Given the description of an element on the screen output the (x, y) to click on. 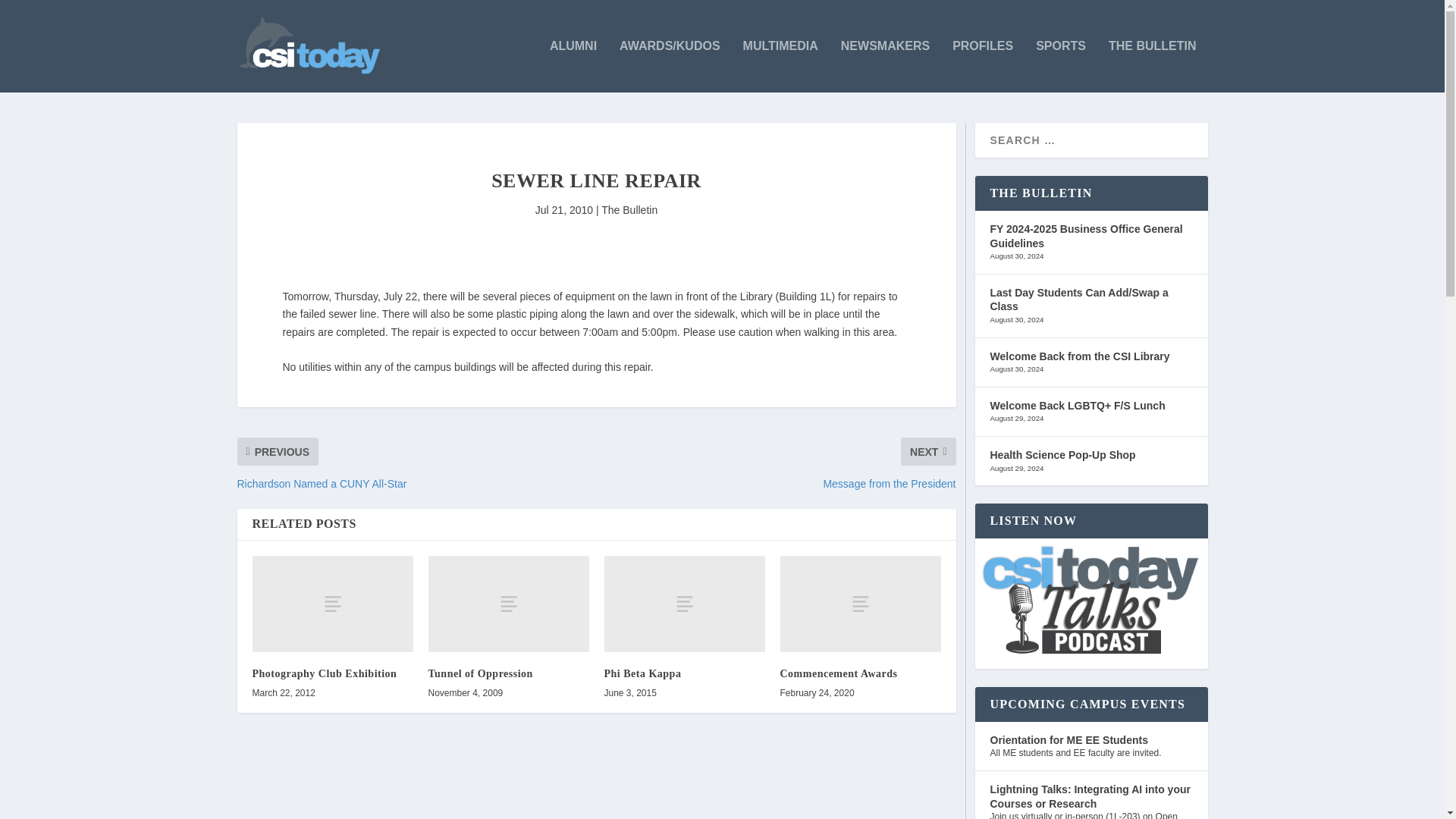
Commencement Awards (837, 673)
Phi Beta Kappa (684, 603)
Tunnel of Oppression (508, 603)
Phi Beta Kappa (642, 673)
SPORTS (1060, 66)
Tunnel of Oppression (480, 673)
FY 2024-2025 Business Office General Guidelines (1086, 235)
NEWSMAKERS (885, 66)
MULTIMEDIA (780, 66)
Search (31, 13)
